Given the description of an element on the screen output the (x, y) to click on. 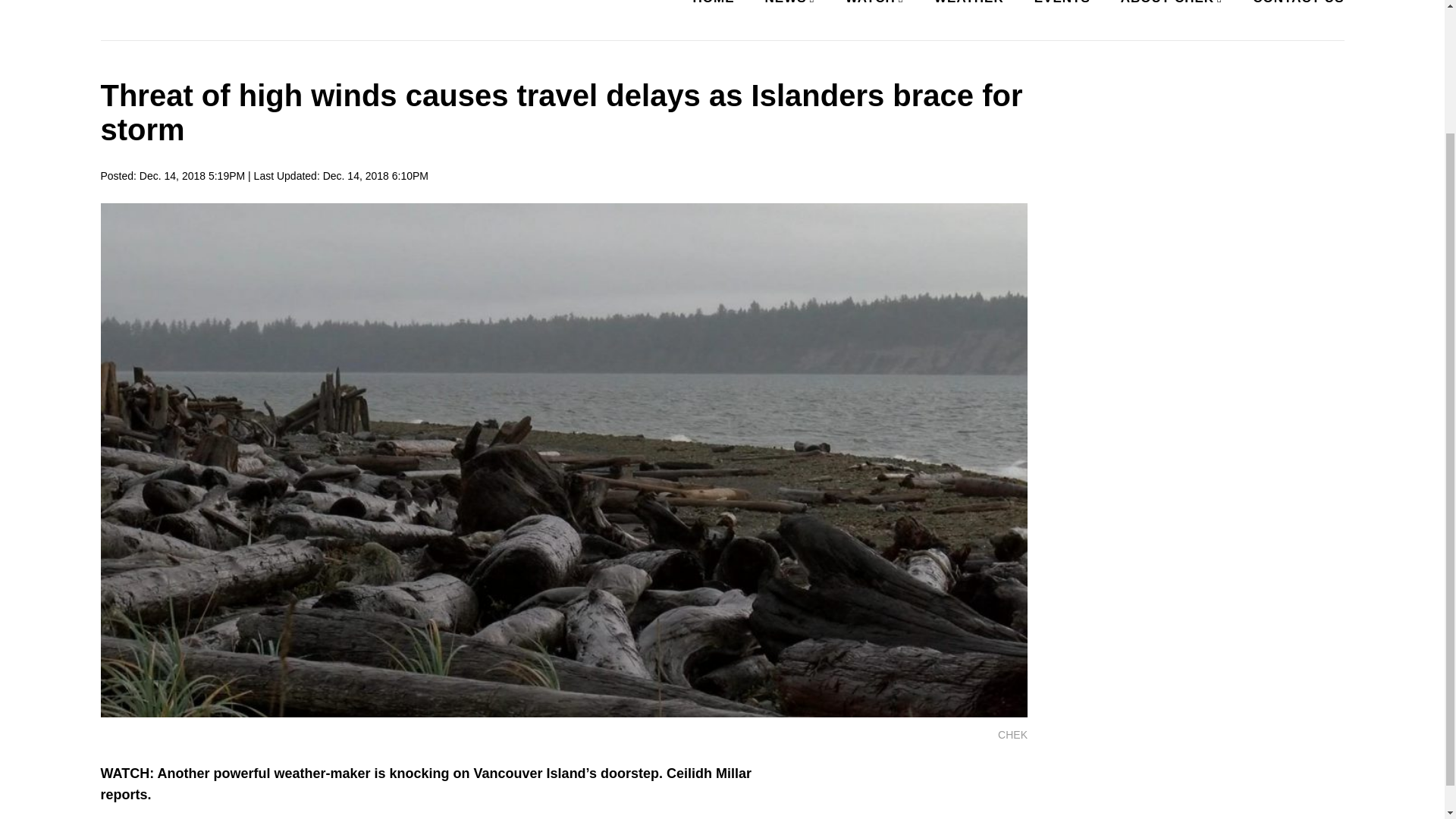
HOME (714, 6)
NEWS (787, 6)
